Given the description of an element on the screen output the (x, y) to click on. 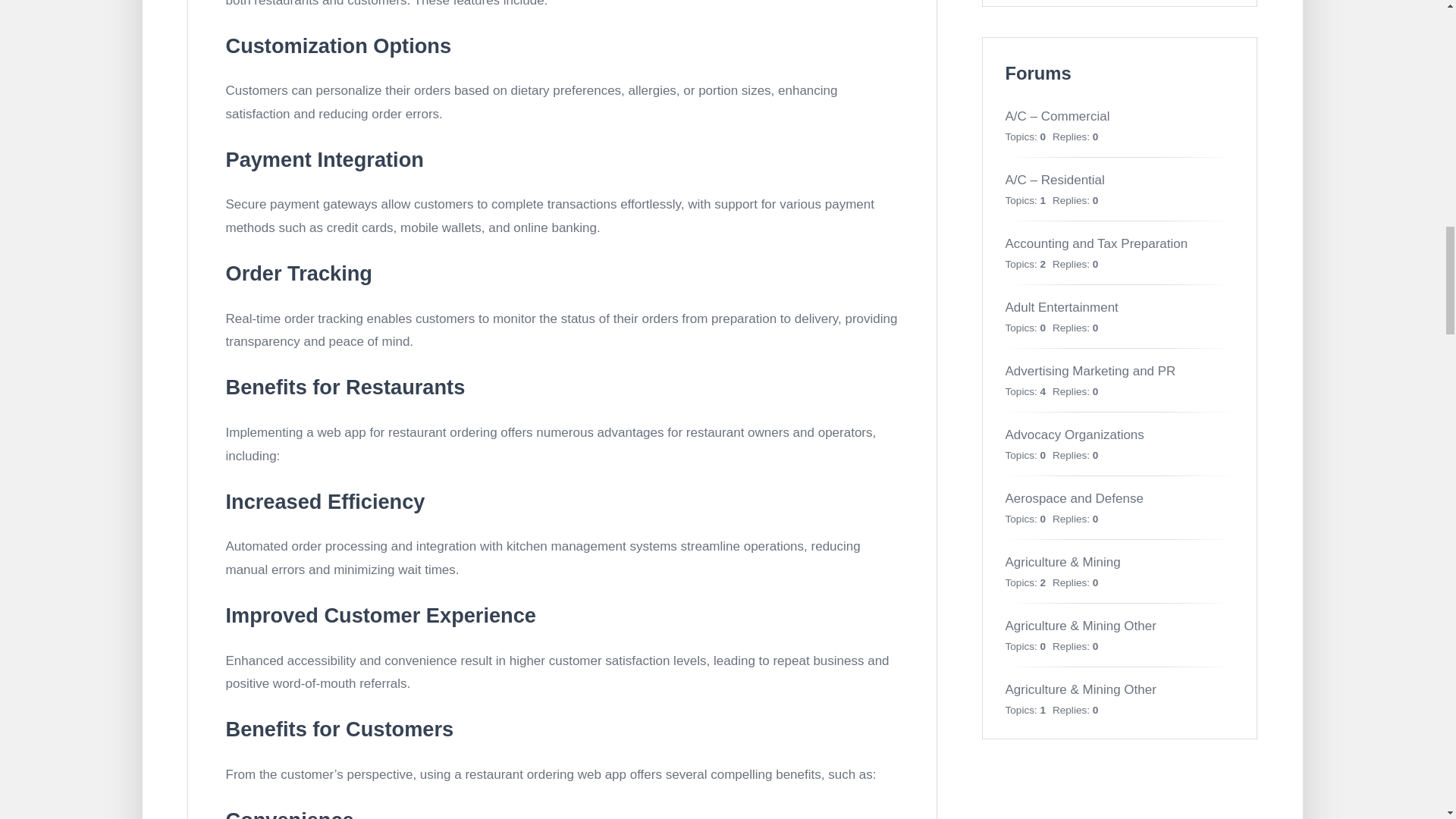
Accounting and Tax Preparation (1097, 243)
Advocacy Organizations (1075, 434)
Advertising Marketing and PR (1091, 370)
Adult Entertainment (1062, 307)
